Given the description of an element on the screen output the (x, y) to click on. 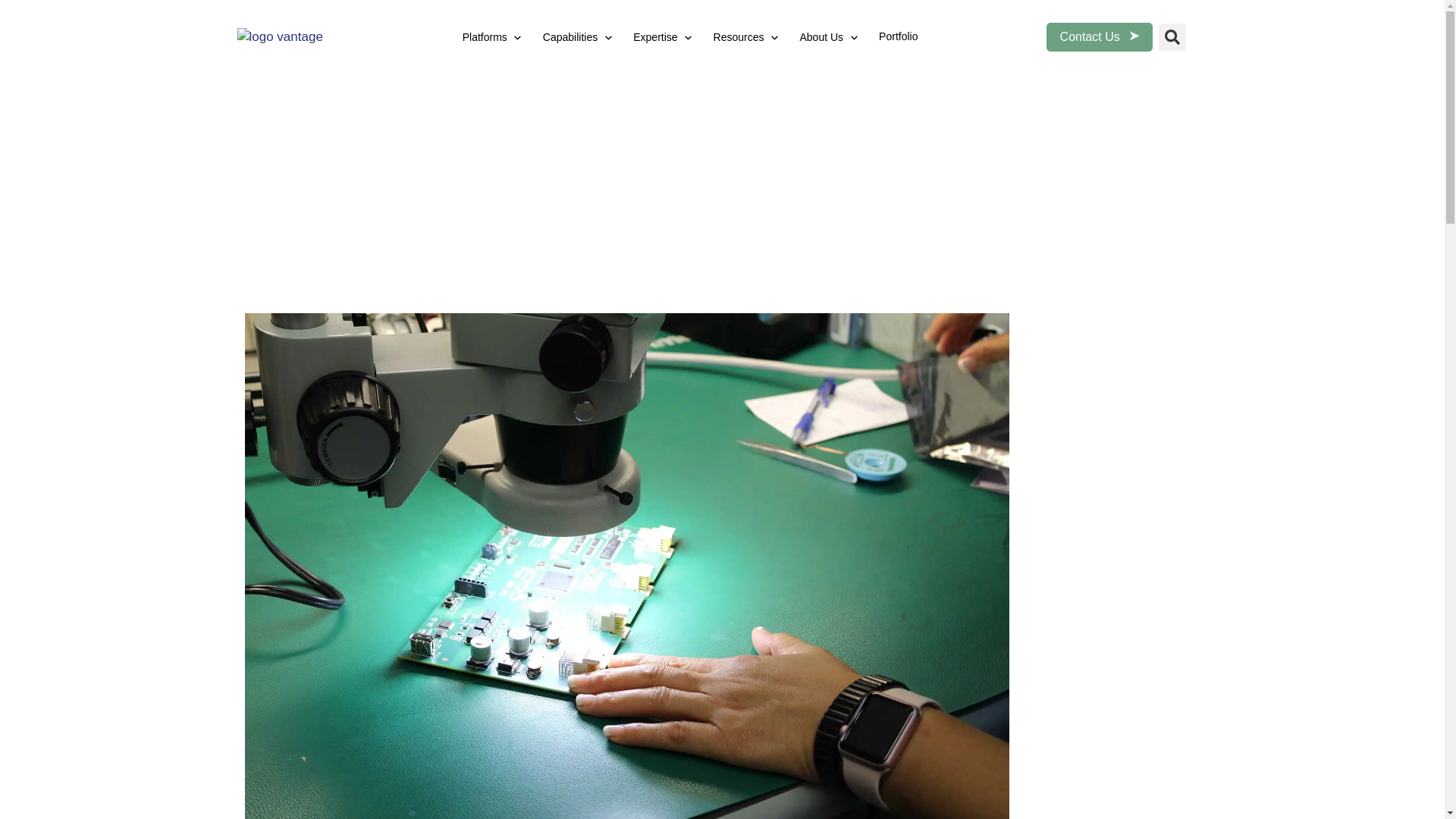
Platforms (484, 37)
Contact Us (1099, 36)
Portfolio (898, 36)
Expertise (655, 37)
Resources (738, 37)
Capabilities (569, 37)
logo vantage (292, 36)
About Us (821, 37)
